Given the description of an element on the screen output the (x, y) to click on. 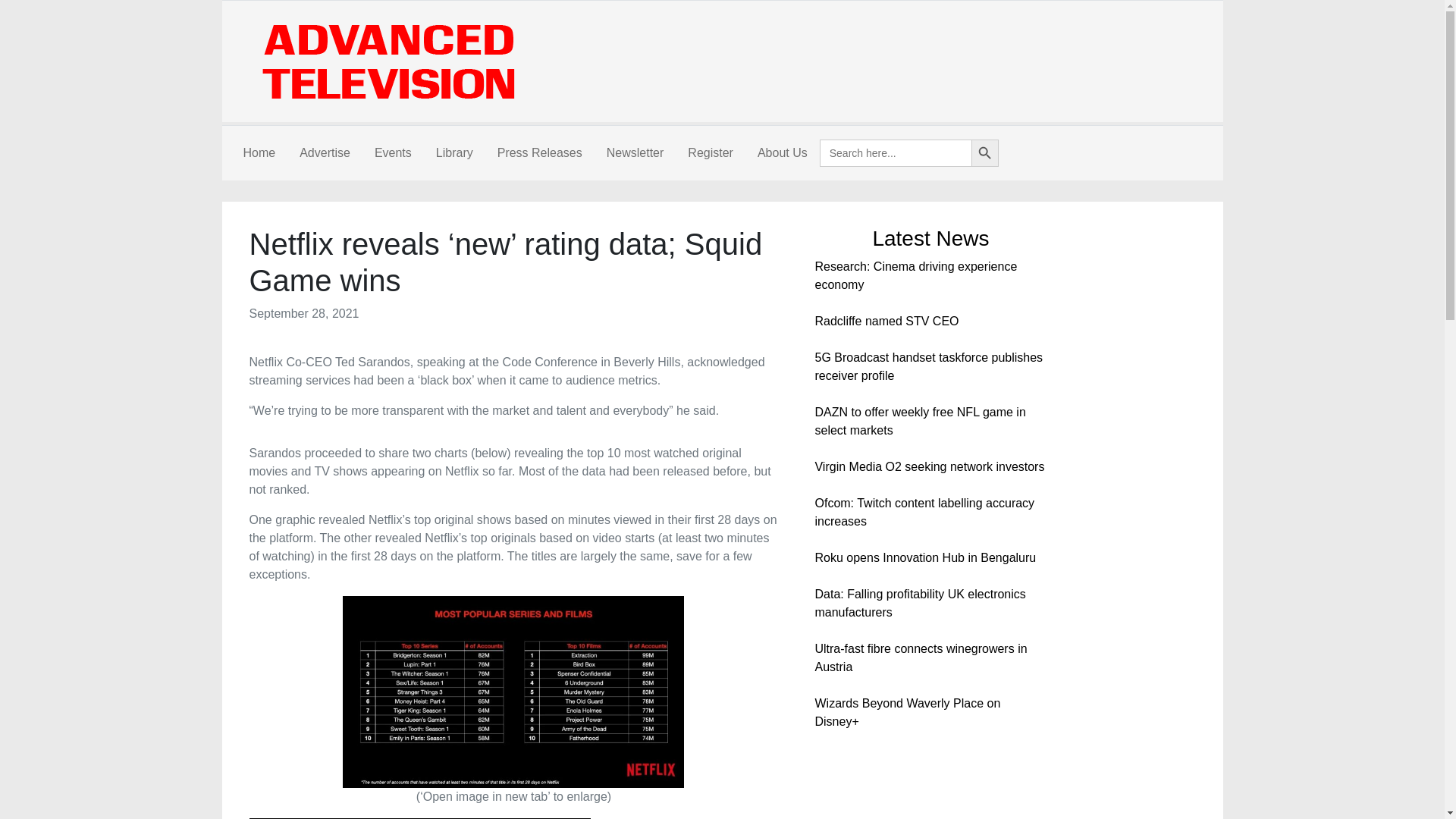
Advertise (324, 153)
Virgin Media O2 seeking network investors (928, 466)
About Us (782, 153)
Events (392, 153)
Ultra-fast fibre connects winegrowers in Austria (919, 657)
Press Releases (539, 153)
Radcliffe named STV CEO (885, 320)
Search Button (984, 153)
5G Broadcast handset taskforce publishes receiver profile (927, 366)
Library (453, 153)
